Given the description of an element on the screen output the (x, y) to click on. 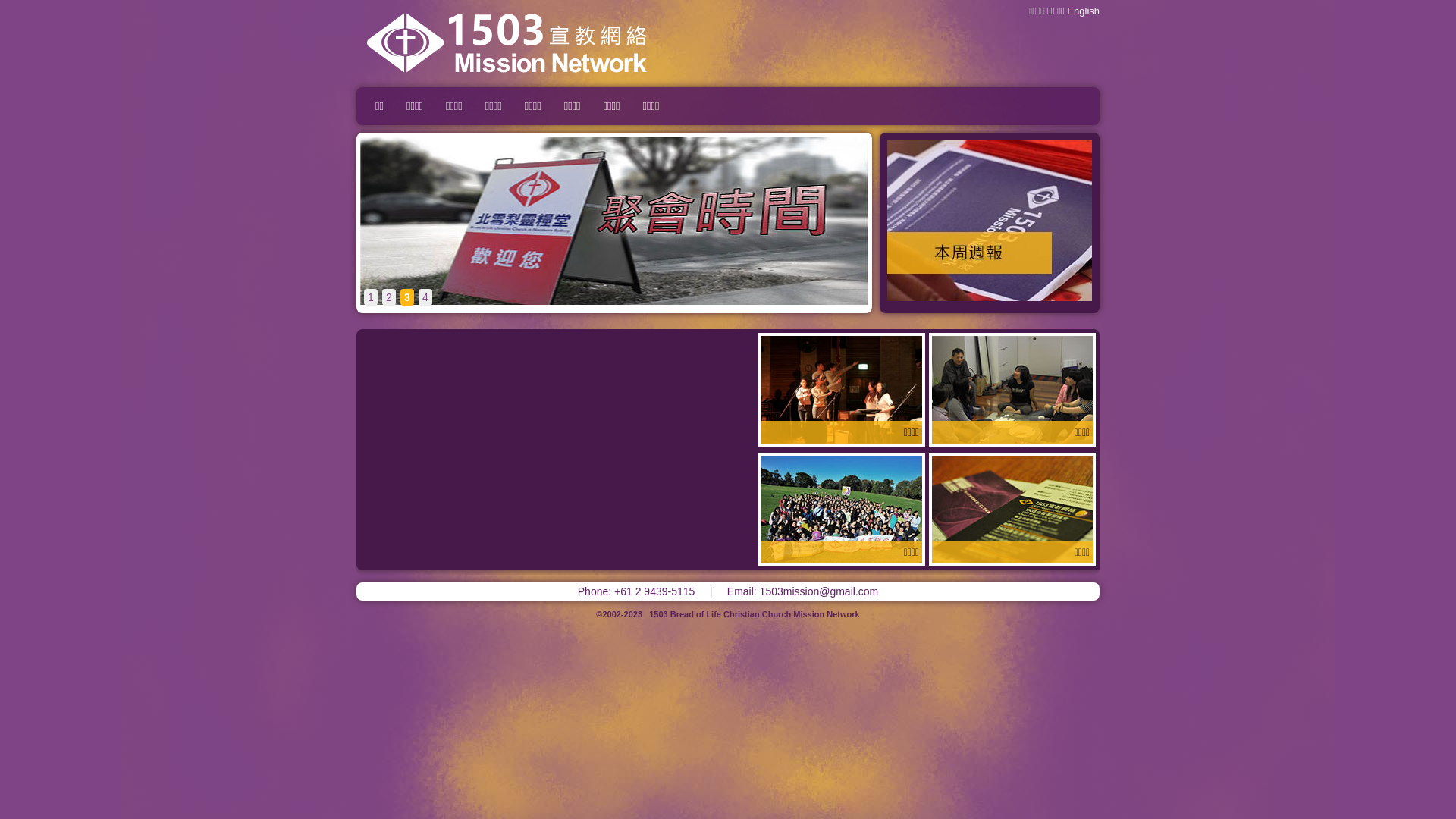
4 Element type: text (425, 296)
1 Element type: text (370, 296)
3 Element type: text (407, 296)
2 Element type: text (388, 296)
English Element type: text (1082, 10)
